Given the description of an element on the screen output the (x, y) to click on. 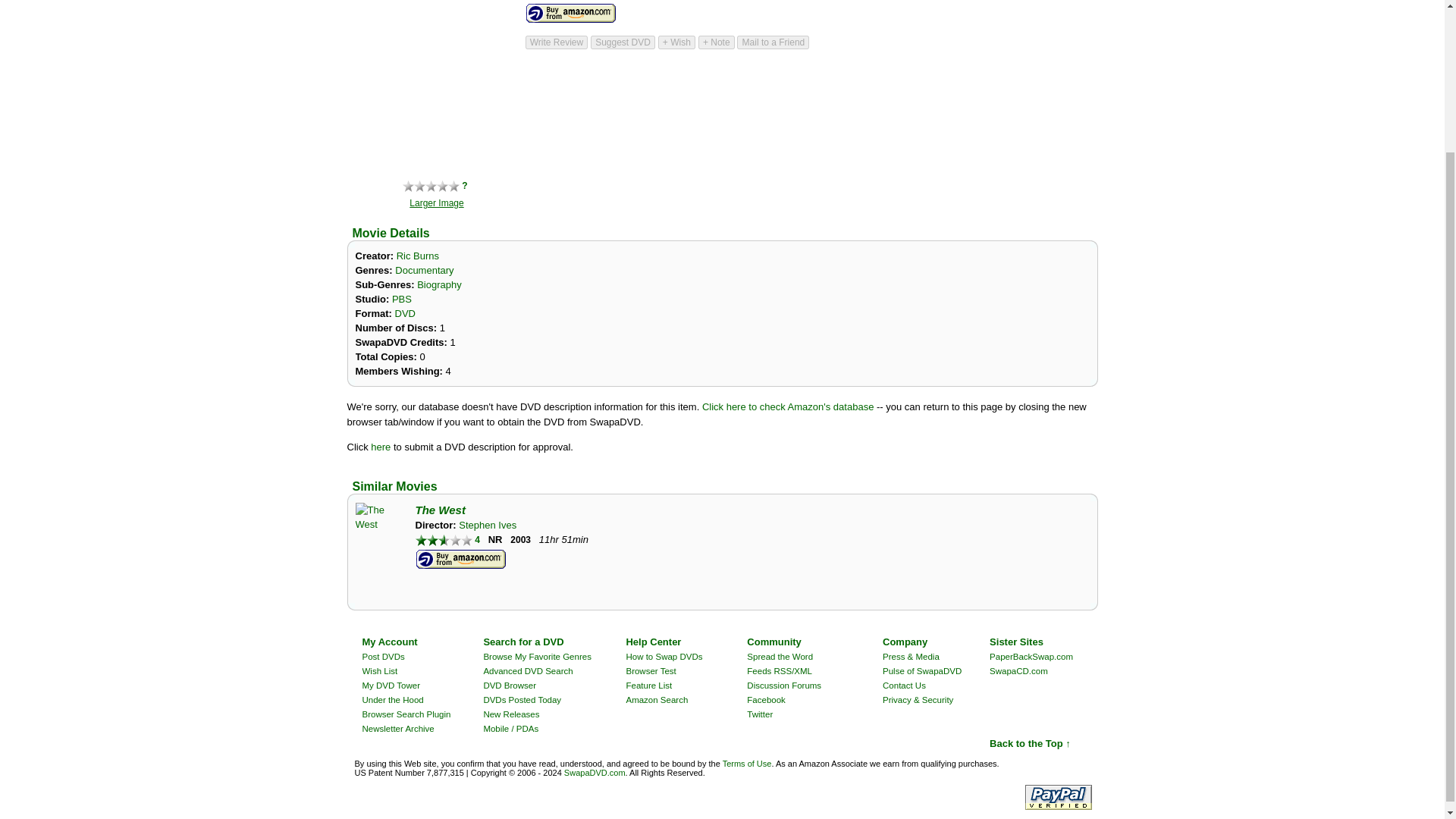
Suggest DVD (623, 42)
Write Review (556, 42)
Mail to a Friend (772, 42)
Buy from Amazon (460, 559)
Buy from Amazon (569, 13)
